Given the description of an element on the screen output the (x, y) to click on. 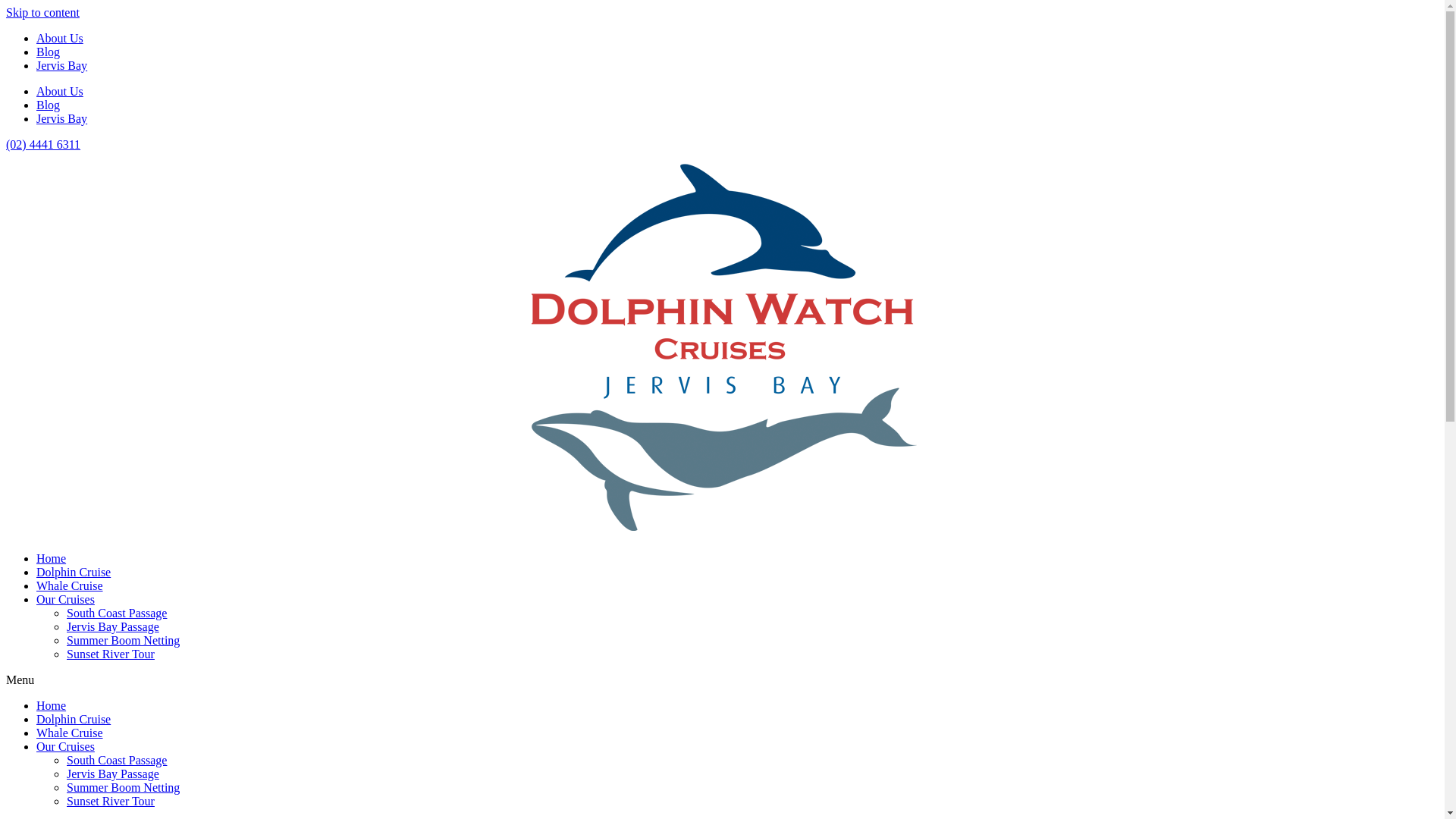
South Coast Passage Element type: text (116, 759)
About Us Element type: text (59, 37)
Sunset River Tour Element type: text (110, 653)
Jervis Bay Passage Element type: text (112, 626)
Jervis Bay Element type: text (61, 65)
Home Element type: text (50, 705)
Whale Cruise Element type: text (69, 732)
Dolphin Cruise Element type: text (73, 571)
Skip to content Element type: text (42, 12)
About Us Element type: text (59, 90)
Jervis Bay Element type: text (61, 118)
Home Element type: text (50, 558)
Our Cruises Element type: text (65, 746)
Dolphin Cruise Element type: text (73, 718)
Summer Boom Netting Element type: text (122, 639)
Summer Boom Netting Element type: text (122, 787)
Blog Element type: text (47, 51)
Whale Cruise Element type: text (69, 585)
Jervis Bay Passage Element type: text (112, 773)
Our Cruises Element type: text (65, 599)
Blog Element type: text (47, 104)
South Coast Passage Element type: text (116, 612)
Sunset River Tour Element type: text (110, 800)
(02) 4441 6311 Element type: text (43, 144)
